Given the description of an element on the screen output the (x, y) to click on. 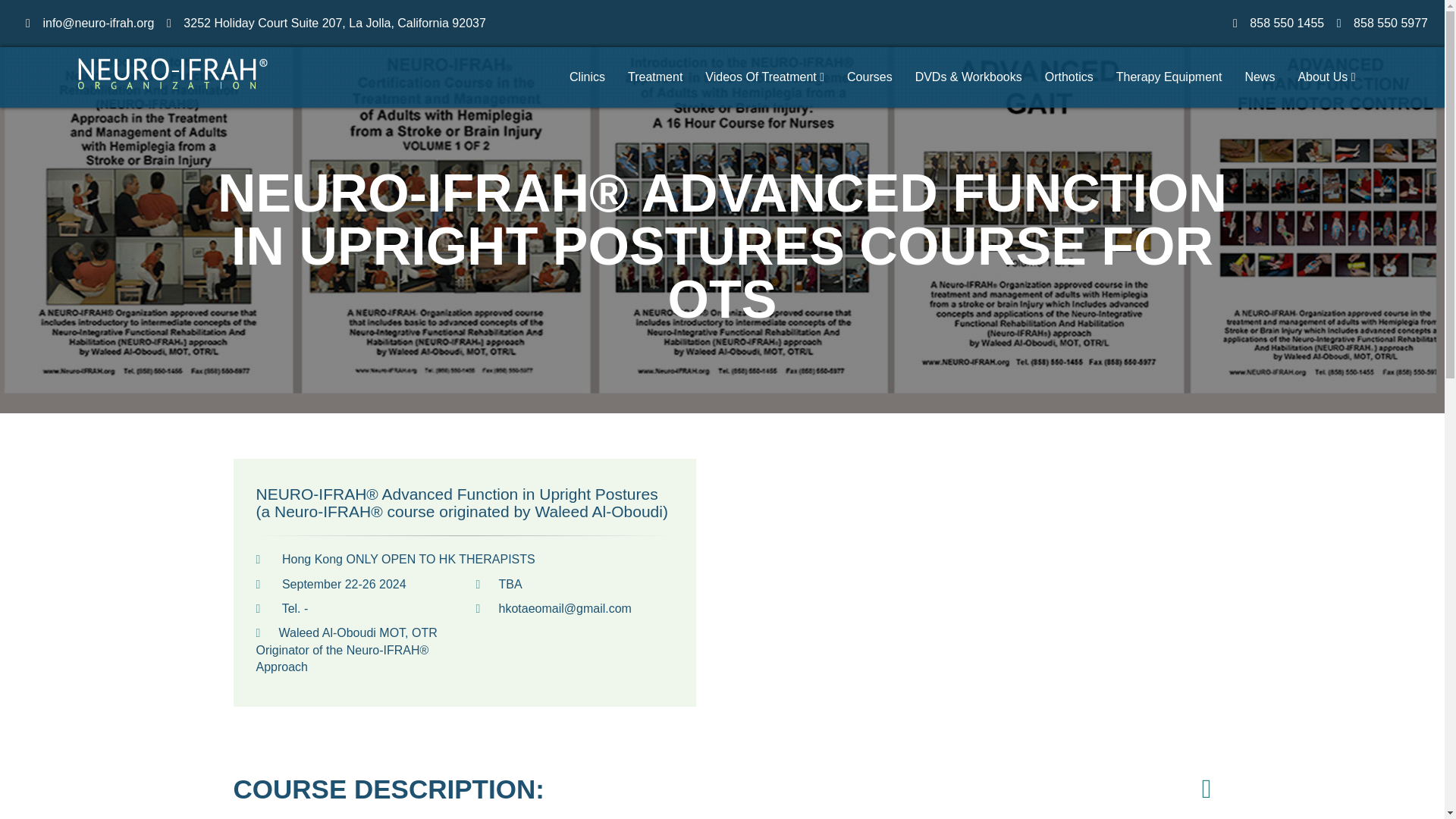
Videos Of Treatment (764, 76)
Therapy Equipment (1169, 76)
3252 Holiday Court Suite 207, La Jolla, California 92037 (333, 22)
Orthotics (1069, 76)
Clinics (586, 76)
Treatment (654, 76)
858 550 1455 (1286, 22)
About Us (1326, 76)
COURSE DESCRIPTION: (388, 788)
Courses (869, 76)
